Given the description of an element on the screen output the (x, y) to click on. 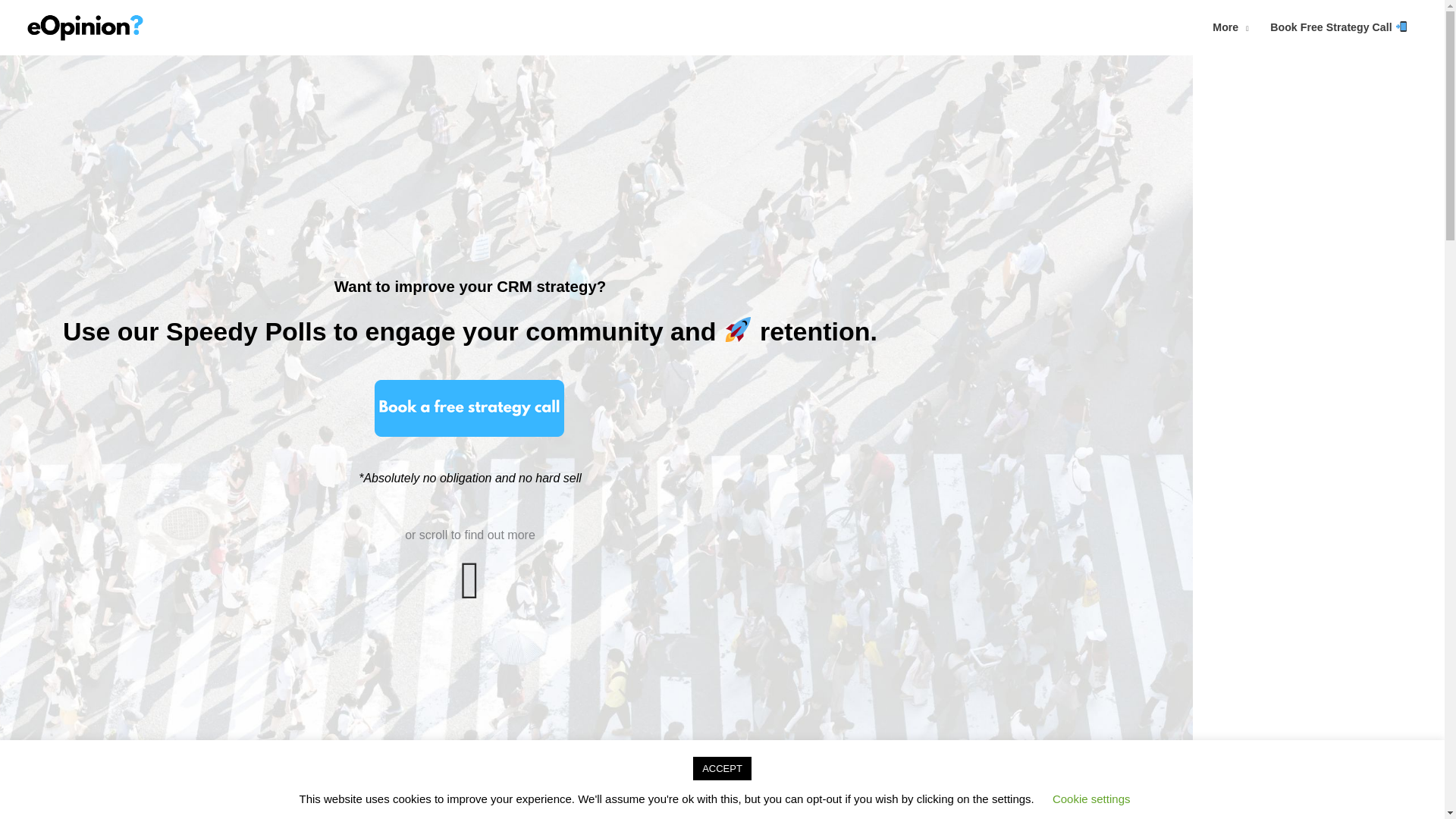
Cookie settings (1091, 798)
ACCEPT (722, 768)
More (1230, 27)
Book Free Strategy Call (1338, 27)
